Given the description of an element on the screen output the (x, y) to click on. 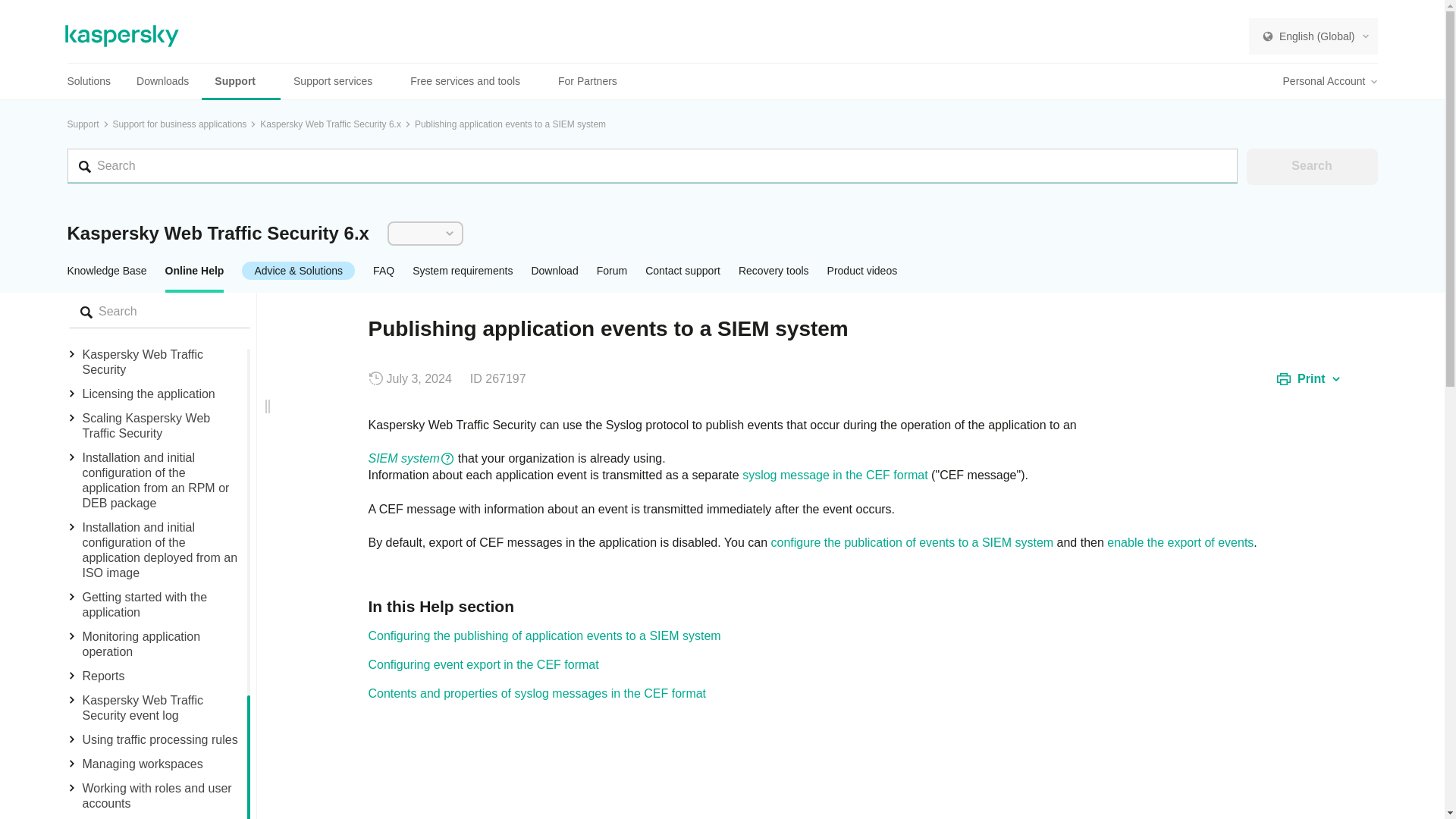
product-search (158, 311)
Support (241, 81)
Downloads (162, 81)
Kaspersky (122, 37)
Solutions (94, 81)
Support services (339, 81)
Free services and tools (470, 81)
For Partners (587, 81)
